Given the description of an element on the screen output the (x, y) to click on. 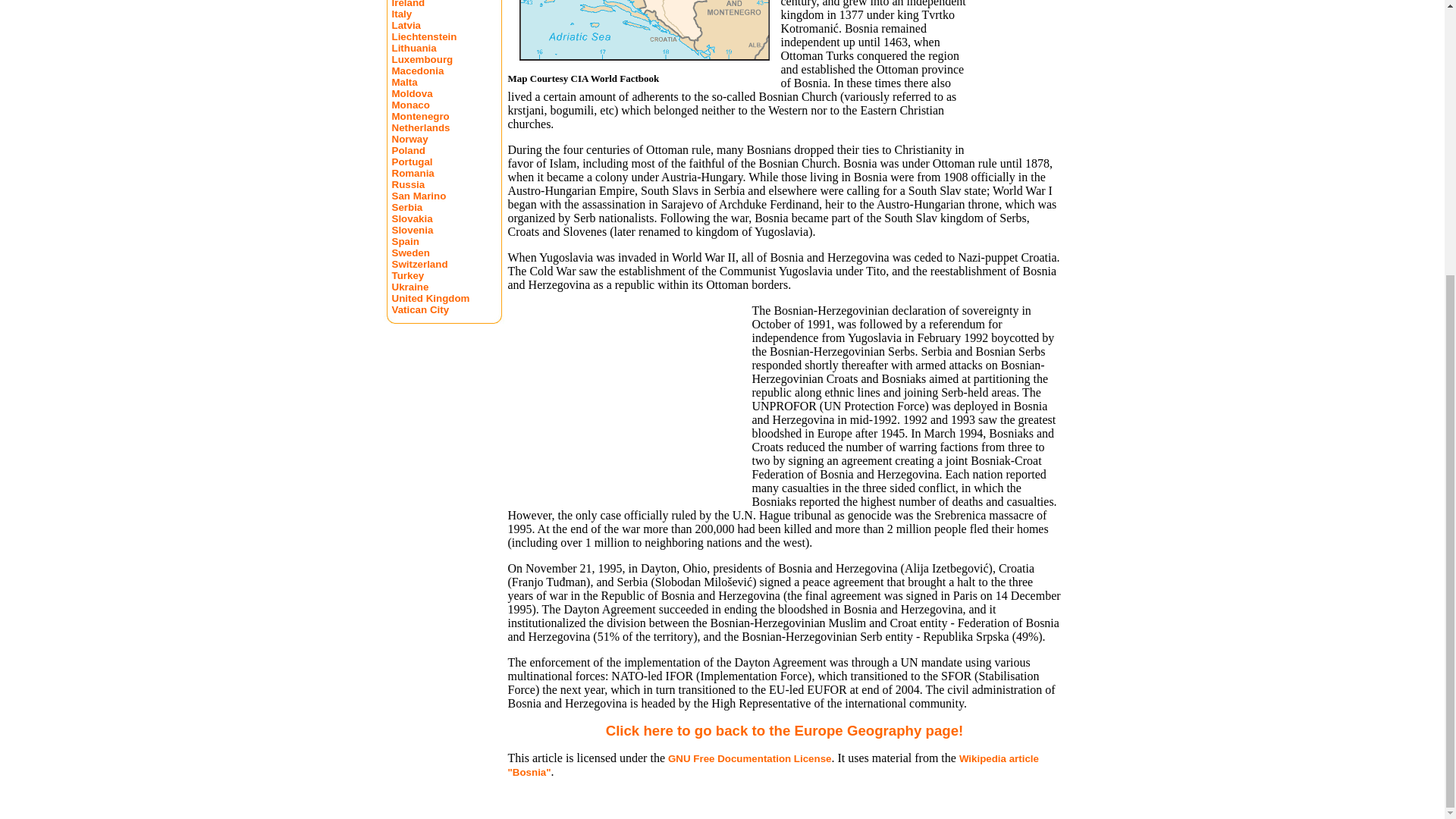
Montenegro (419, 116)
Moldova (411, 93)
Luxembourg (421, 59)
Italy (401, 13)
Ireland (408, 4)
Latvia (405, 25)
Malta (403, 81)
Monaco (410, 104)
Macedonia (417, 70)
Lithuania (413, 48)
